Given the description of an element on the screen output the (x, y) to click on. 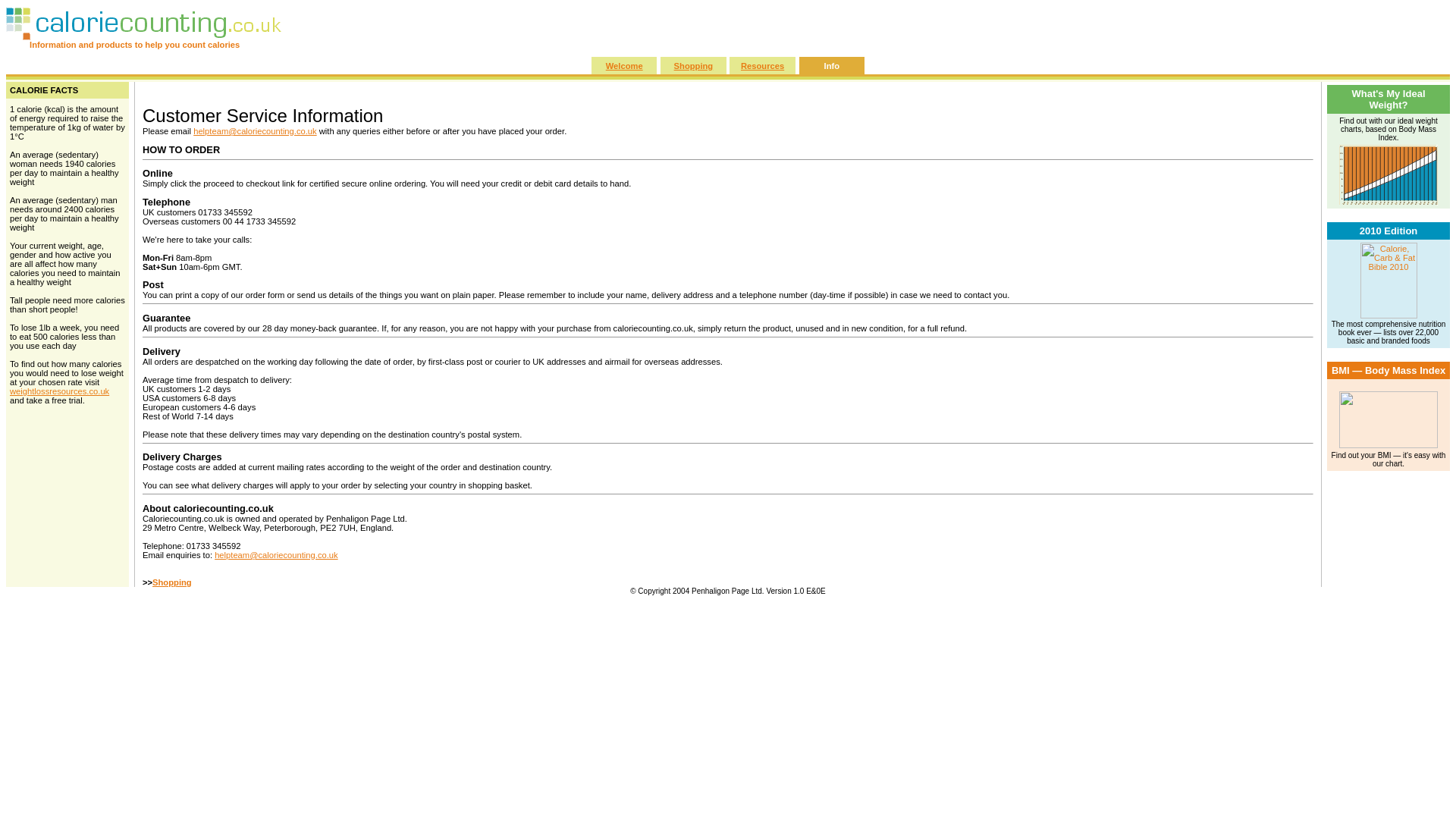
print a copy of our order form (228, 294)
Info (832, 64)
Shopping (693, 64)
Welcome (624, 64)
Resources (762, 64)
weightlossresources.co.uk (59, 390)
Shopping (172, 582)
